Given the description of an element on the screen output the (x, y) to click on. 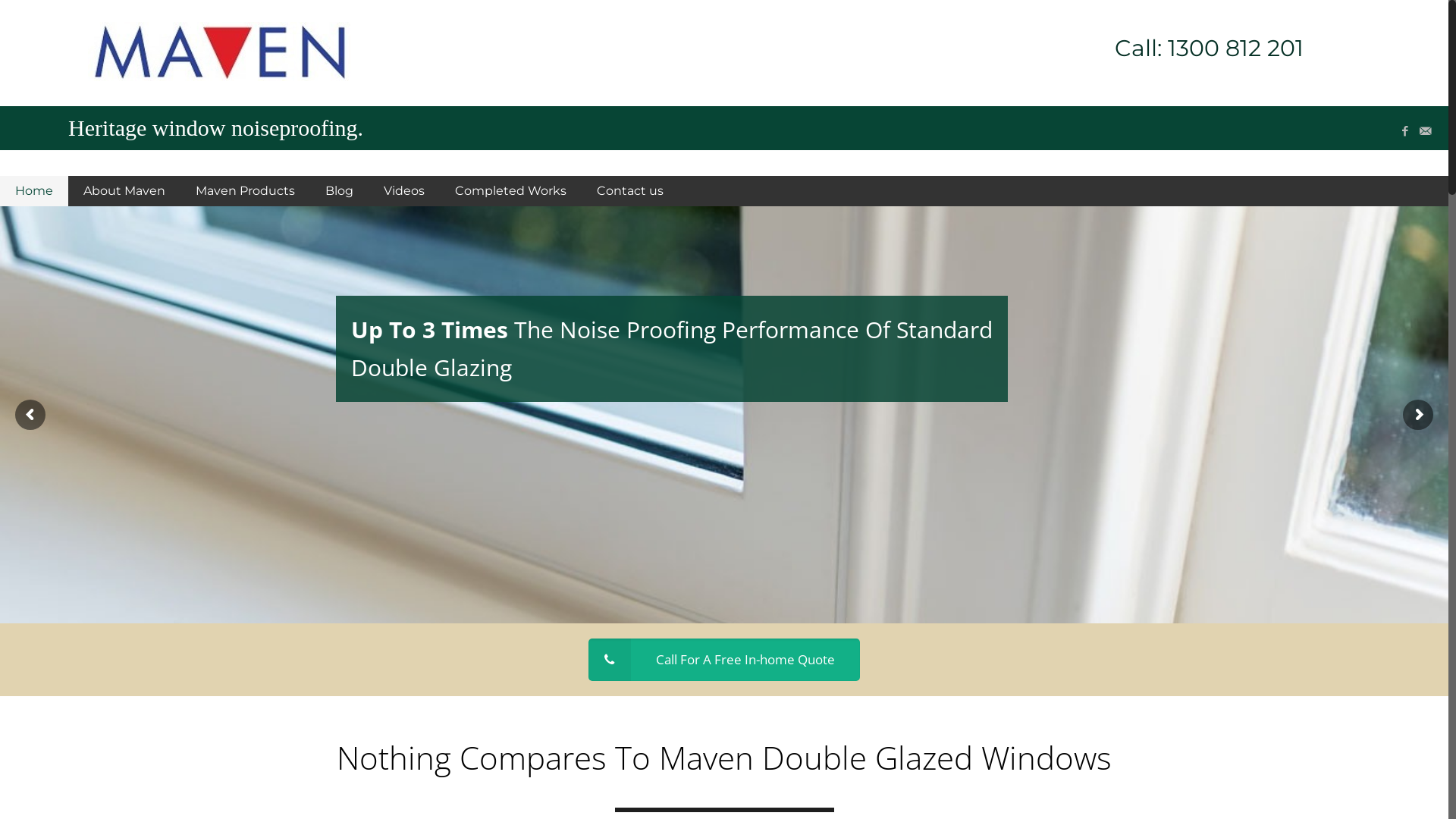
Videos Element type: text (403, 190)
Contact us Element type: text (629, 190)
Home Element type: text (34, 190)
Completed Works Element type: text (510, 190)
About Maven Element type: text (124, 190)
Blog Element type: text (339, 190)
Maven Double Glazing Element type: hover (218, 51)
Call For A Free In-home Quote Element type: text (723, 659)
Call: 1300 812 201 Element type: text (1125, 48)
Maven Products Element type: text (245, 190)
Facebook Element type: hover (1404, 130)
